Given the description of an element on the screen output the (x, y) to click on. 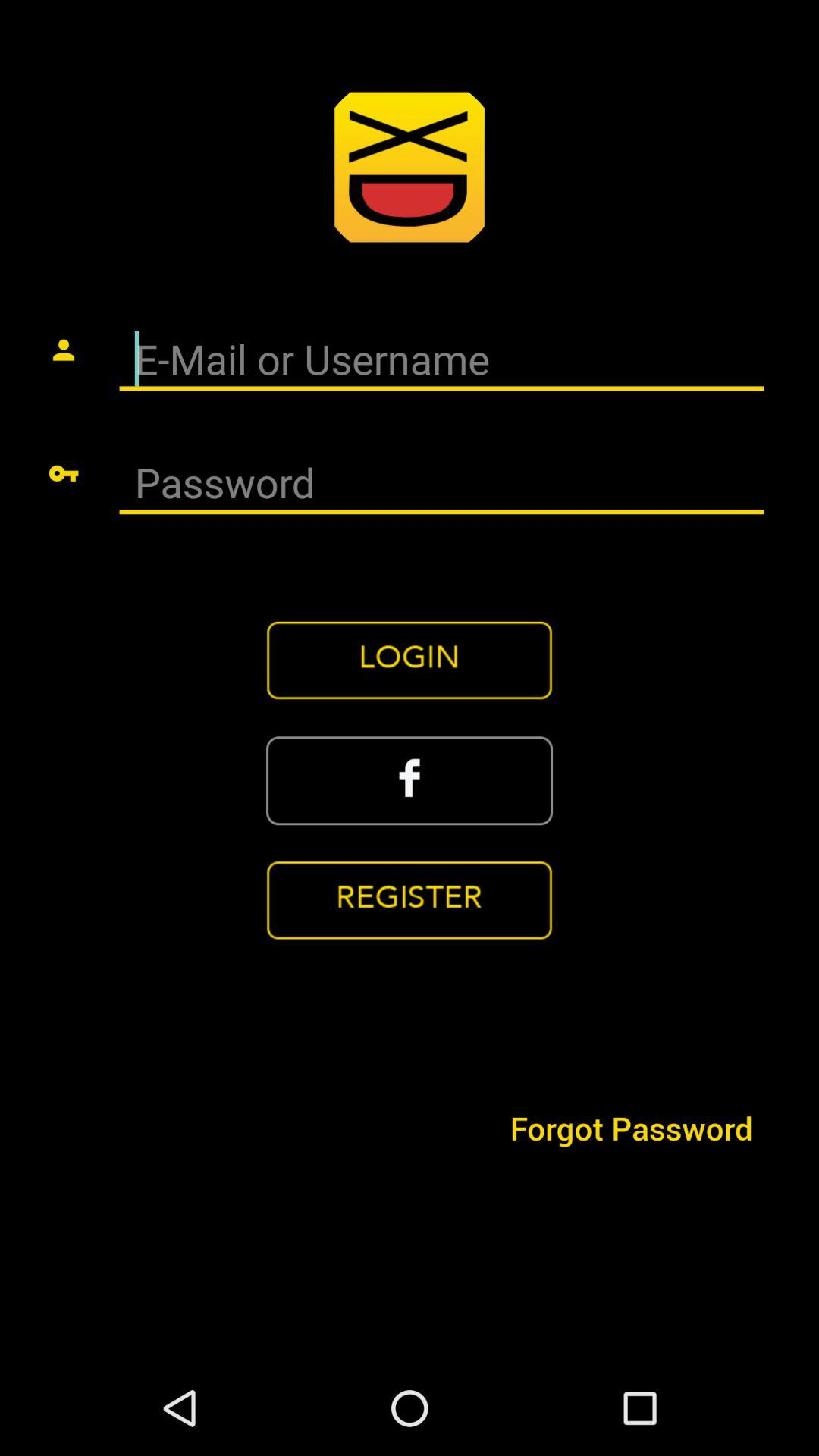
login (409, 660)
